Given the description of an element on the screen output the (x, y) to click on. 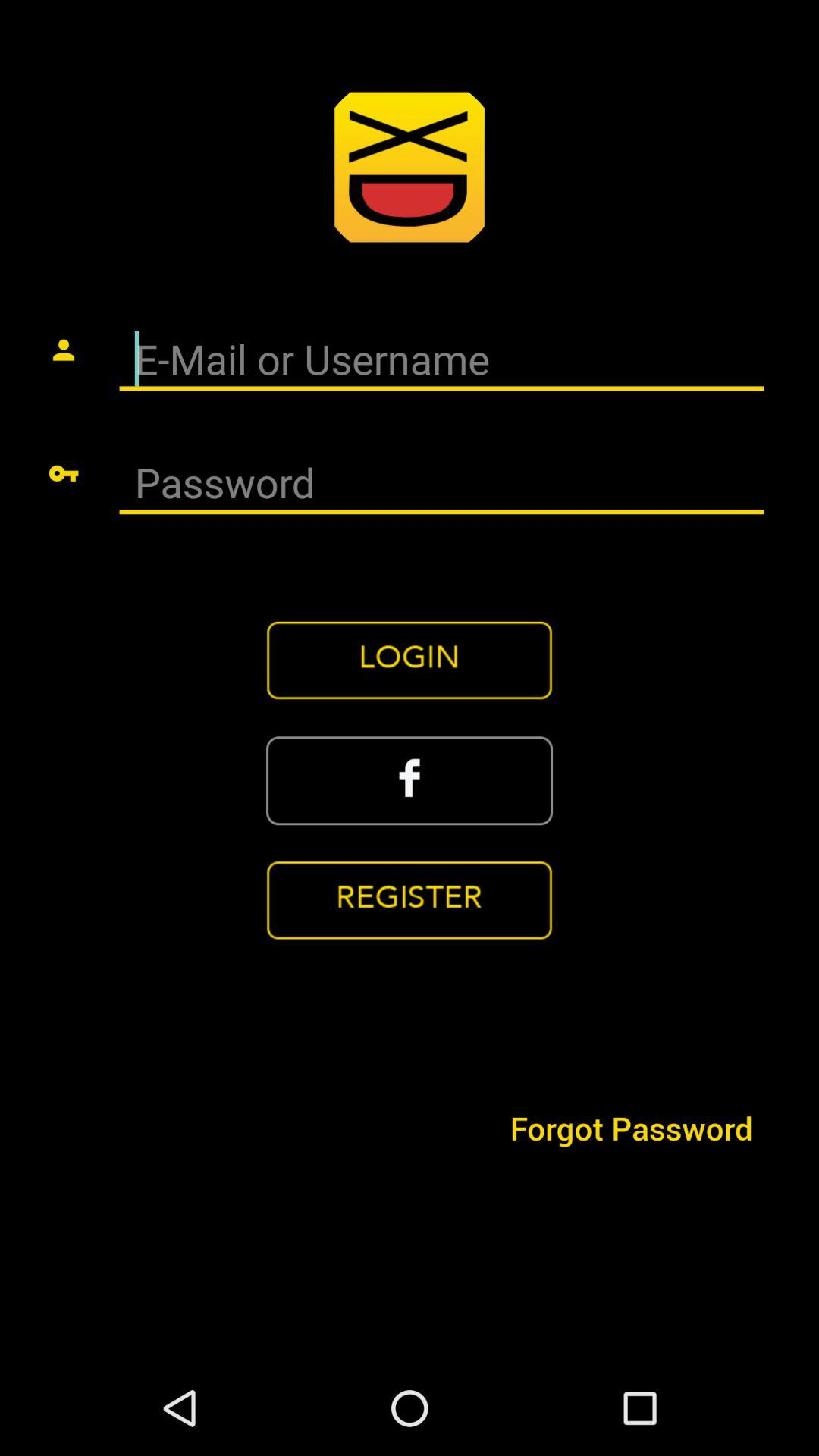
login (409, 660)
